Given the description of an element on the screen output the (x, y) to click on. 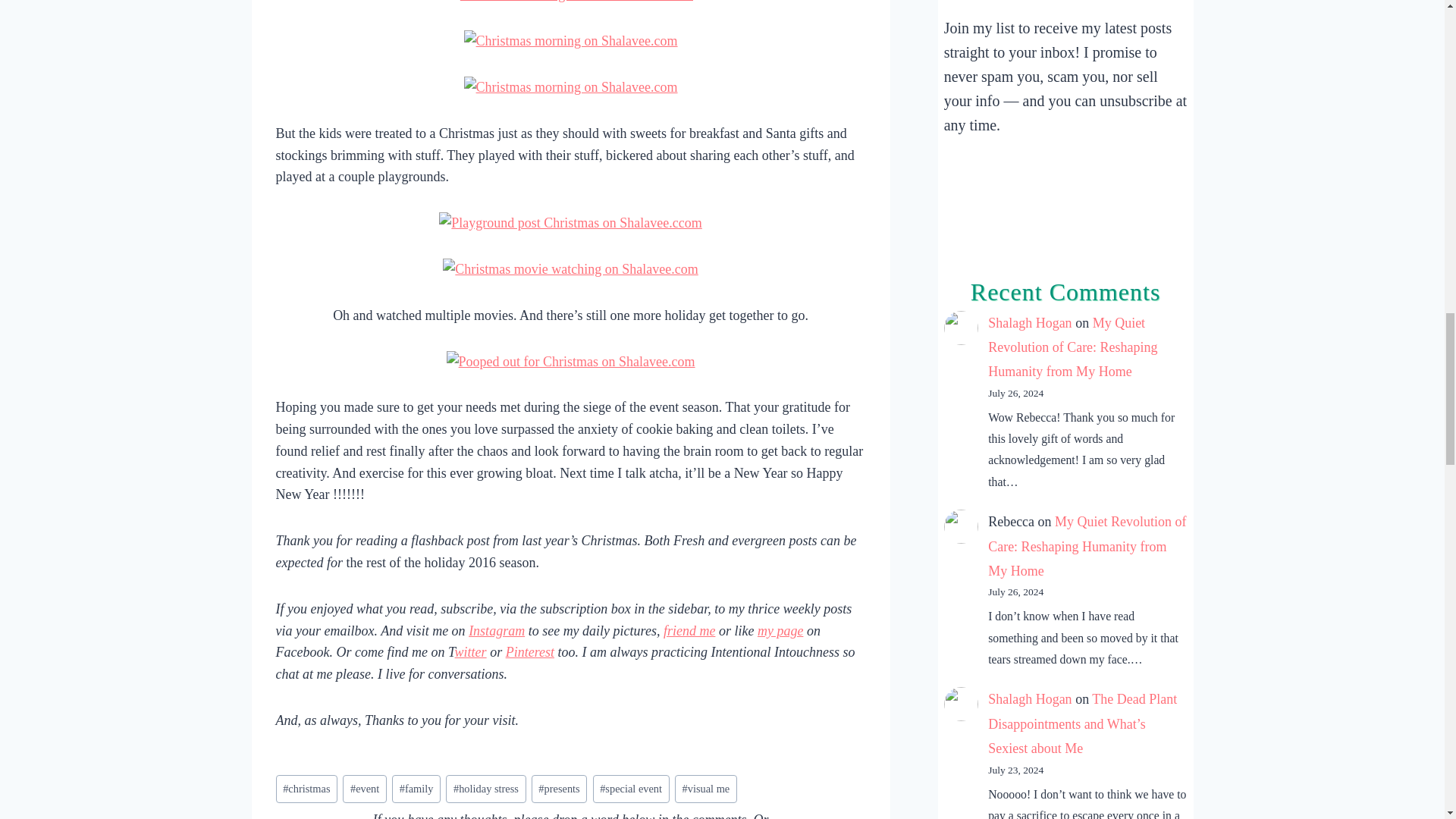
special event (630, 788)
event (364, 788)
family (416, 788)
Instagram (496, 630)
visual me (705, 788)
christmas (306, 788)
presents (559, 788)
holiday stress (485, 788)
